Given the description of an element on the screen output the (x, y) to click on. 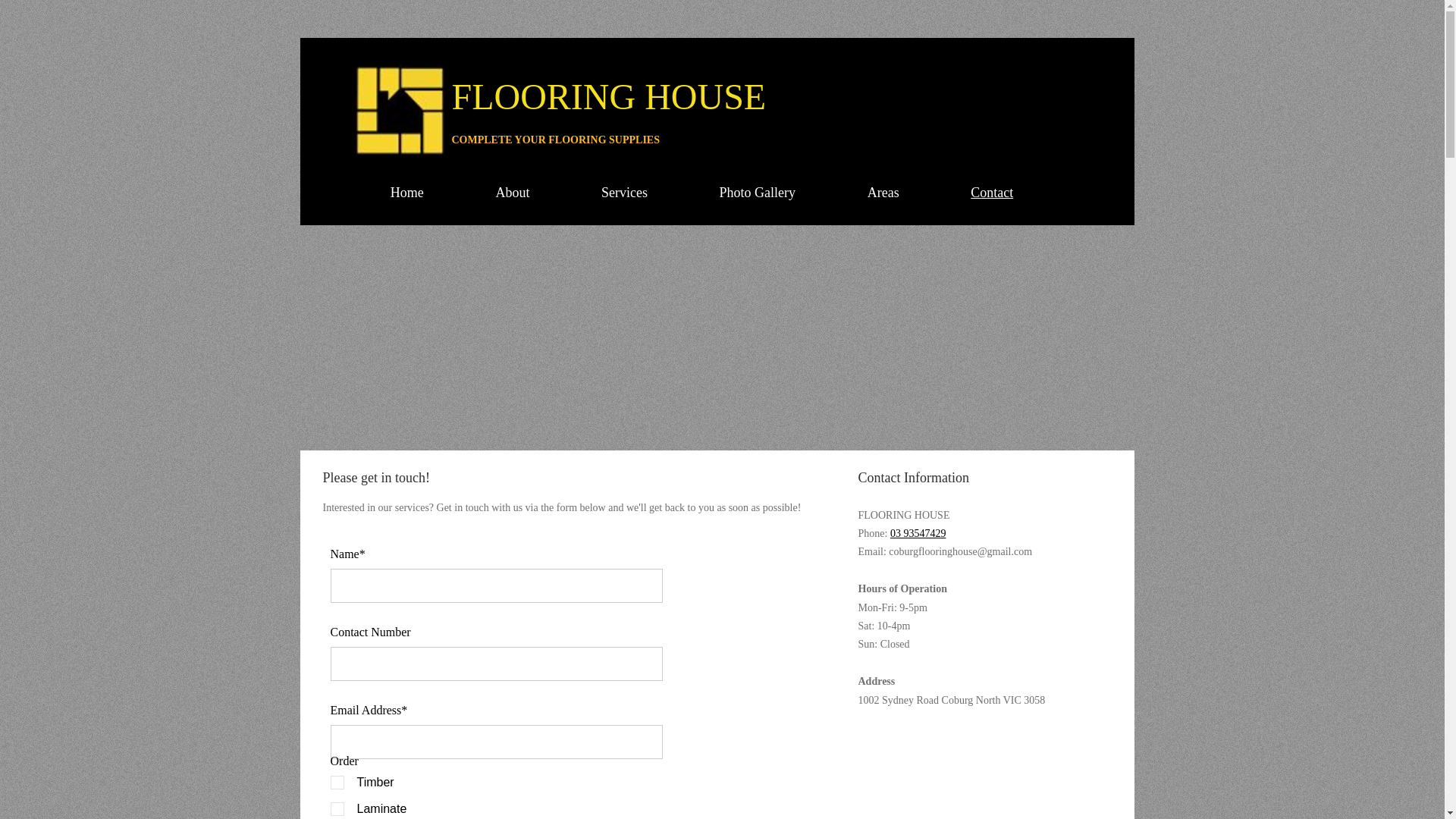
About Element type: text (512, 192)
Contact Element type: text (992, 192)
Photo Gallery Element type: text (757, 192)
Services Element type: text (624, 192)
Home Element type: text (407, 192)
coburgflooringhouse@gmail.com Element type: text (960, 551)
Areas Element type: text (883, 192)
03 93547429 Element type: text (918, 533)
